Given the description of an element on the screen output the (x, y) to click on. 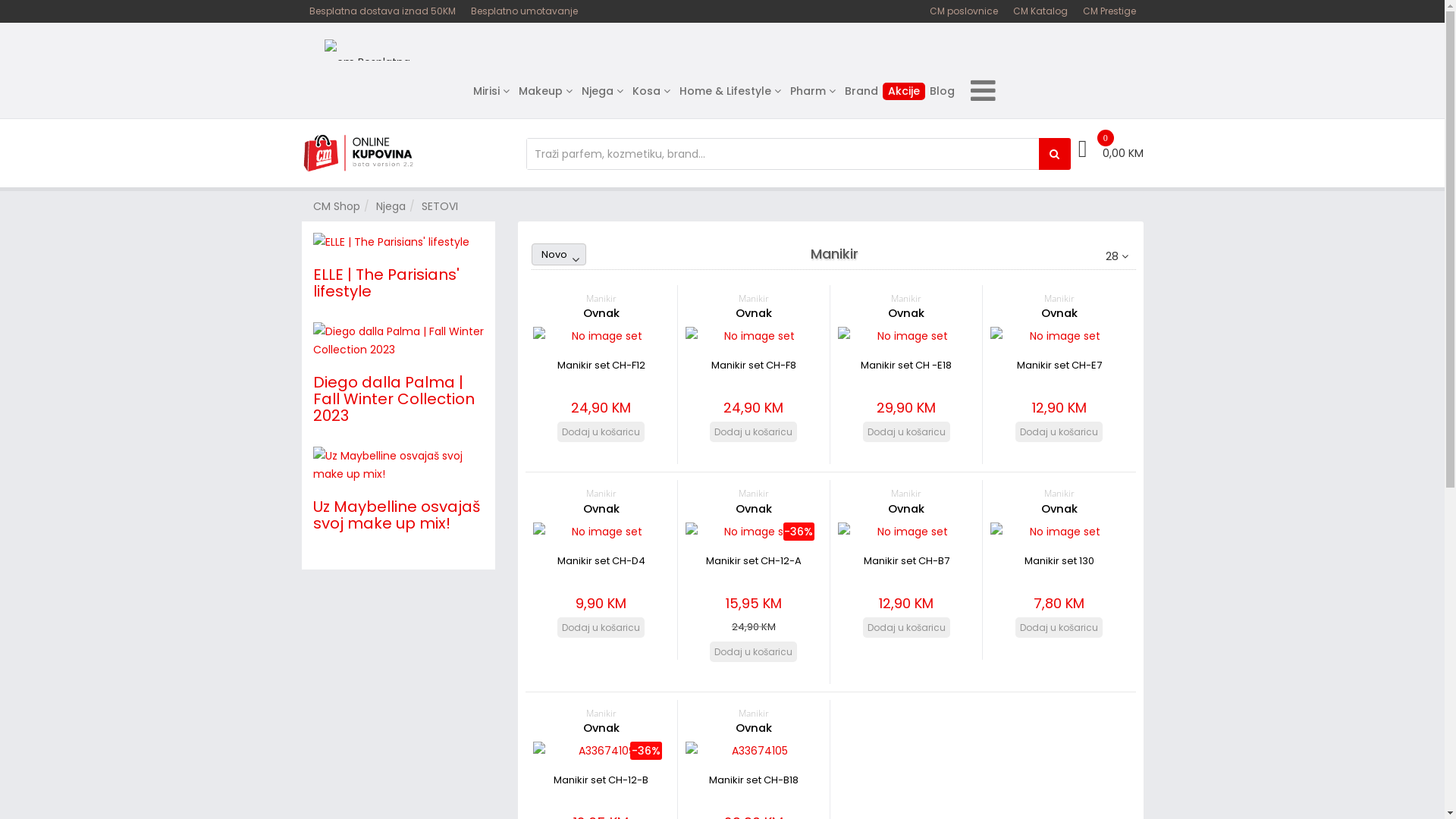
Manikir set CH-F12 Element type: hover (600, 335)
Manikir Element type: text (601, 712)
Home & Lifestyle Element type: text (729, 91)
Manikir Element type: text (1059, 492)
CM poslovnice Element type: text (963, 11)
Manikir set CH-B18 Element type: text (753, 779)
Blog Element type: text (942, 91)
Ovnak Element type: text (601, 727)
SETOVI Element type: text (439, 205)
Akcije Element type: text (902, 91)
Kosa Element type: text (650, 91)
Manikir set CH-D4 Element type: text (601, 560)
Ovnak Element type: text (1059, 312)
Ovnak Element type: text (753, 312)
Manikir set 130  Element type: hover (1058, 531)
Manikir Element type: text (601, 492)
Manikir set CH-E7 Element type: hover (1058, 335)
Ovnak Element type: text (601, 312)
Ovnak Element type: text (1059, 508)
Manikir set CH-F8 Element type: text (753, 364)
CM Katalog Element type: text (1040, 11)
CM Shop Element type: text (335, 205)
Ovnak Element type: text (906, 312)
Ovnak Element type: text (753, 727)
Diego dalla Palma | Fall Winter Collection 2023 Element type: text (392, 398)
Ovnak Element type: text (601, 508)
Novo Element type: text (554, 254)
Besplatna dostava iznad 50KM Element type: text (382, 11)
Ovnak Element type: text (906, 508)
Manikir set CH-12-B Element type: text (600, 779)
Manikir set CH-12-A Element type: text (753, 560)
Manikir Element type: text (753, 297)
Manikir set CH-F8 Element type: hover (753, 335)
Manikir Element type: text (601, 297)
Manikir set CH-B18 Element type: hover (753, 750)
Mirisi Element type: text (491, 91)
Pharm Element type: text (812, 91)
Manikir set CH-B7 Element type: text (906, 560)
Makeup Element type: text (545, 91)
Brand Element type: text (861, 91)
Manikir set CH-12-A Element type: hover (753, 531)
Manikir Element type: text (753, 712)
Manikir set CH-E7 Element type: text (1058, 364)
Manikir Element type: text (753, 492)
Manikir set CH-12-B Element type: hover (600, 750)
Manikir set CH-D4 Element type: hover (600, 531)
Manikir set CH-F12 Element type: text (601, 364)
CM Prestige Element type: text (1109, 11)
Ovnak Element type: text (753, 508)
Manikir set CH-B7 Element type: hover (905, 531)
Manikir set 130 Element type: text (1059, 560)
Manikir Element type: text (906, 492)
Manikir set CH -E18 Element type: hover (905, 335)
Manikir Element type: text (1059, 297)
Besplatno umotavanje Element type: text (523, 11)
Njega Element type: text (601, 91)
ELLE | The Parisians' lifestyle Element type: text (385, 282)
Njega Element type: text (390, 205)
Manikir Element type: text (906, 297)
Manikir set CH -E18 Element type: text (905, 364)
